Given the description of an element on the screen output the (x, y) to click on. 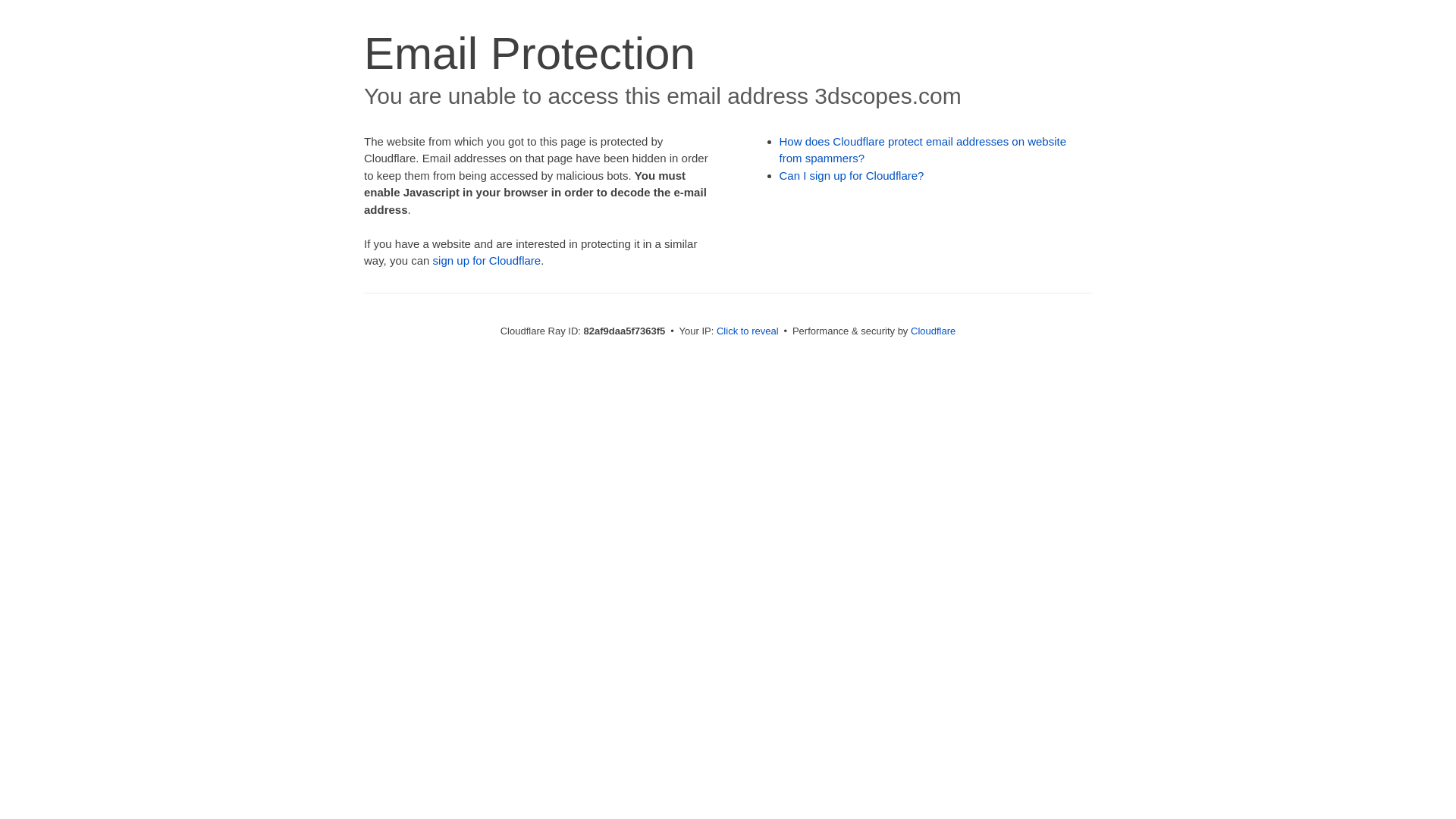
Cloudflare Element type: text (932, 330)
sign up for Cloudflare Element type: text (487, 260)
Can I sign up for Cloudflare? Element type: text (851, 175)
Click to reveal Element type: text (747, 330)
